Given the description of an element on the screen output the (x, y) to click on. 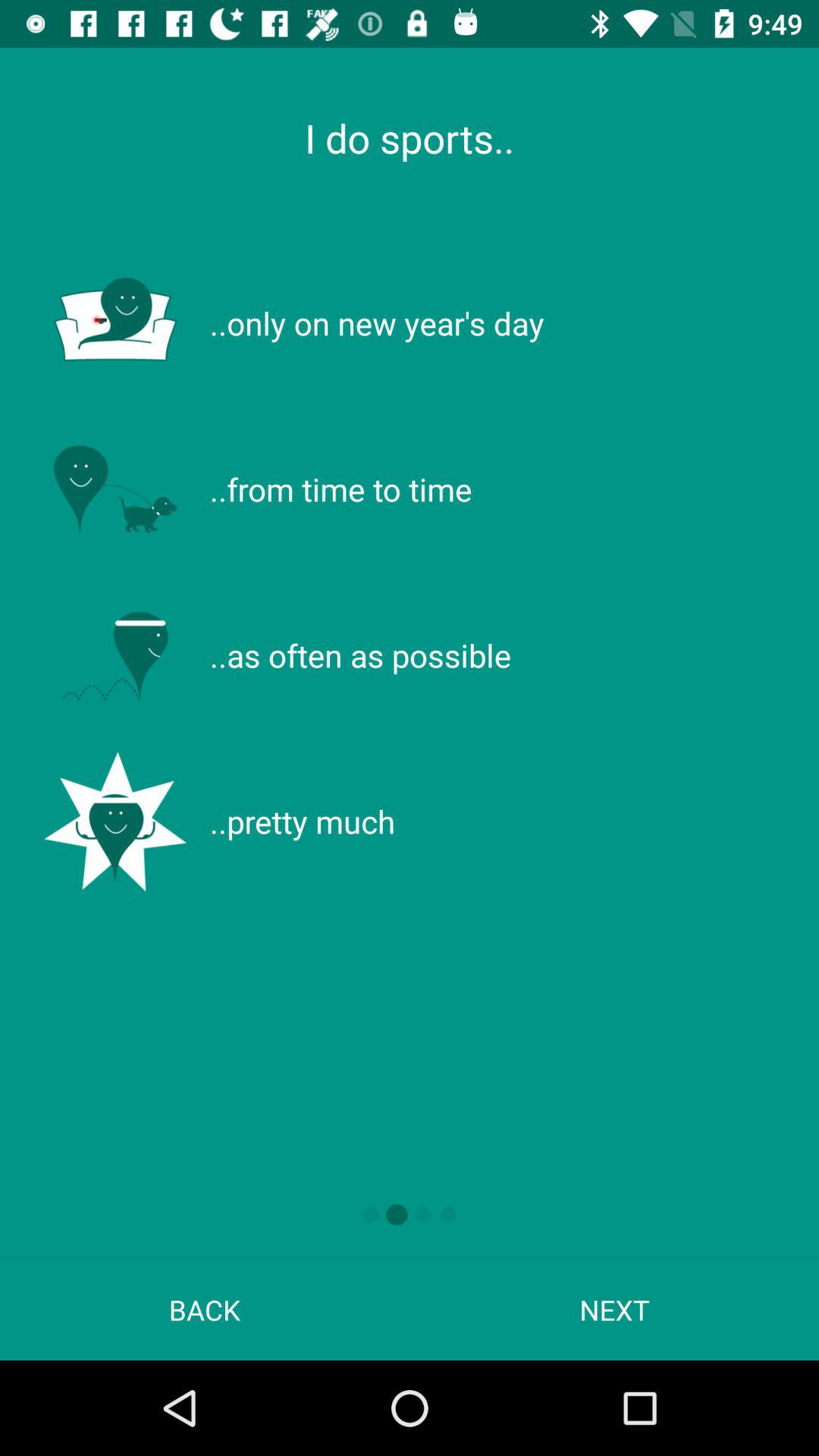
swipe until next (614, 1309)
